Given the description of an element on the screen output the (x, y) to click on. 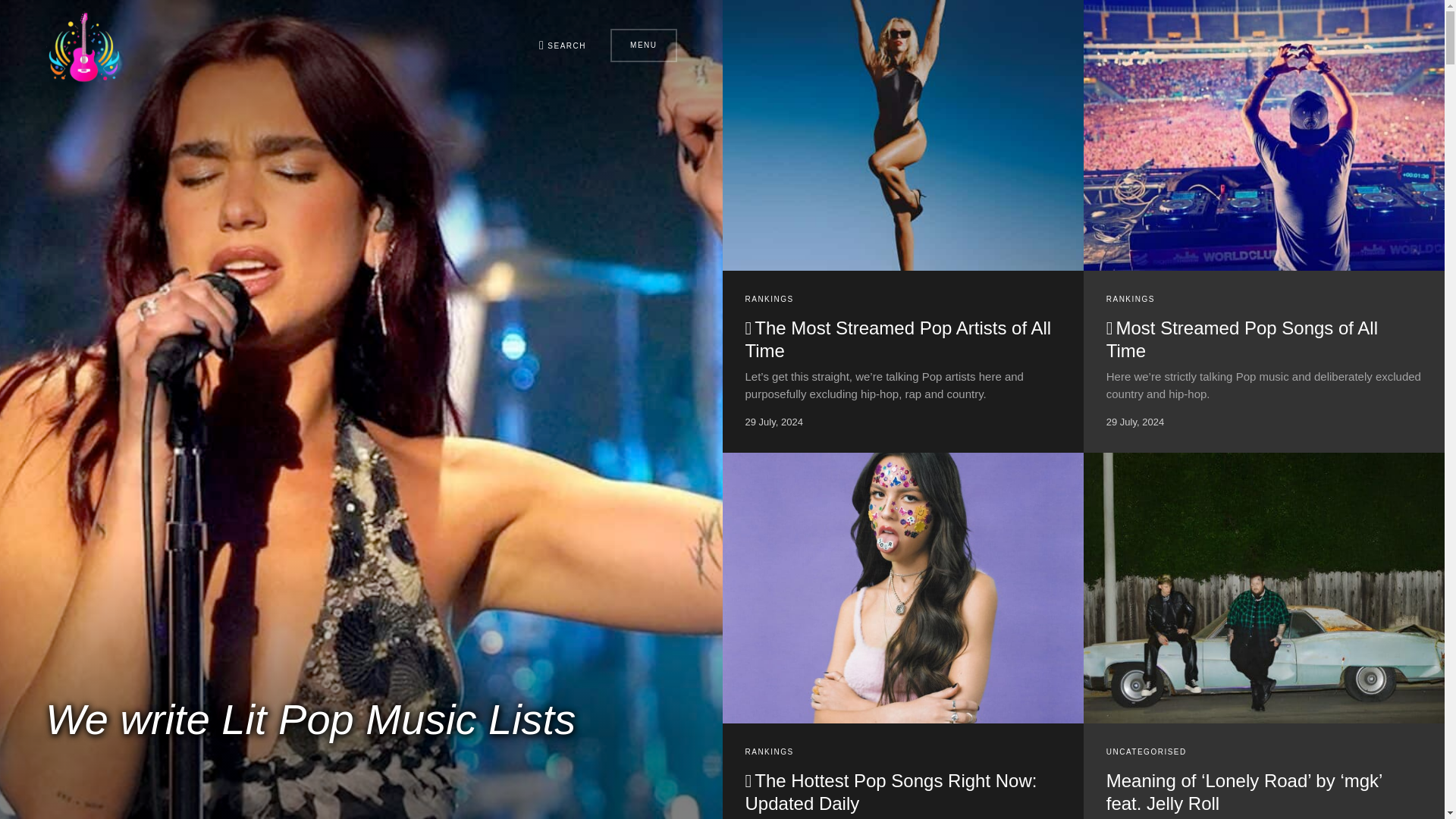
Most Streamed Pop Songs of All Time (1241, 339)
RANKINGS (1130, 298)
The Most Streamed Pop Artists of All Time (897, 339)
RANKINGS (768, 751)
RANKINGS (768, 298)
